Given the description of an element on the screen output the (x, y) to click on. 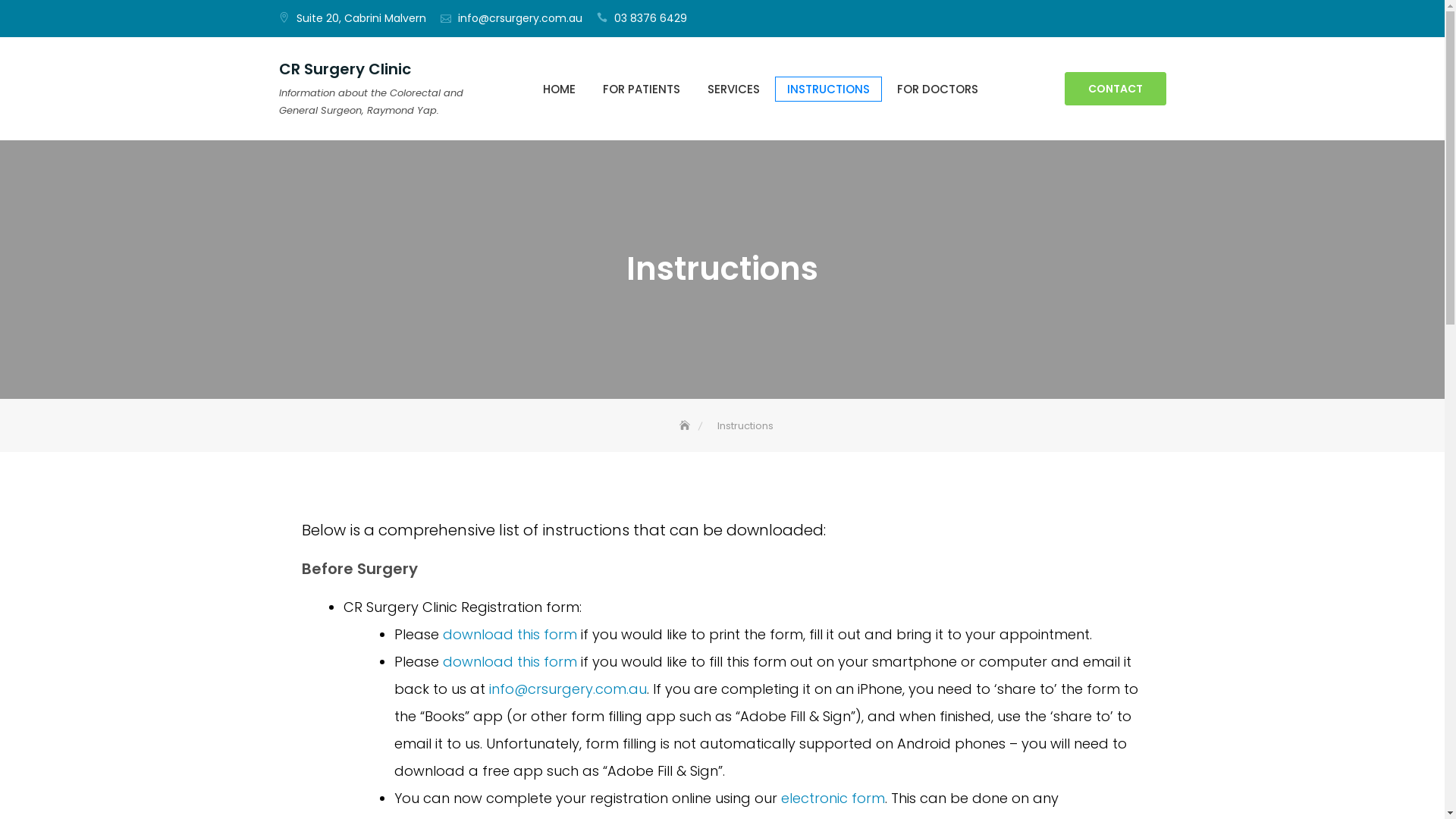
download this form Element type: text (511, 661)
FOR PATIENTS Element type: text (640, 88)
CONTACT Element type: text (1115, 88)
FOR DOCTORS Element type: text (936, 88)
download this form Element type: text (509, 633)
SERVICES Element type: text (732, 88)
info@crsurgery.com.au Element type: text (567, 688)
electronic form Element type: text (832, 797)
CR Surgery Clinic Element type: text (345, 68)
INSTRUCTIONS Element type: text (828, 88)
info@crsurgery.com.au Element type: text (520, 17)
HOME Element type: text (558, 88)
Home Element type: text (685, 425)
03 8376 6429 Element type: text (650, 17)
